Given the description of an element on the screen output the (x, y) to click on. 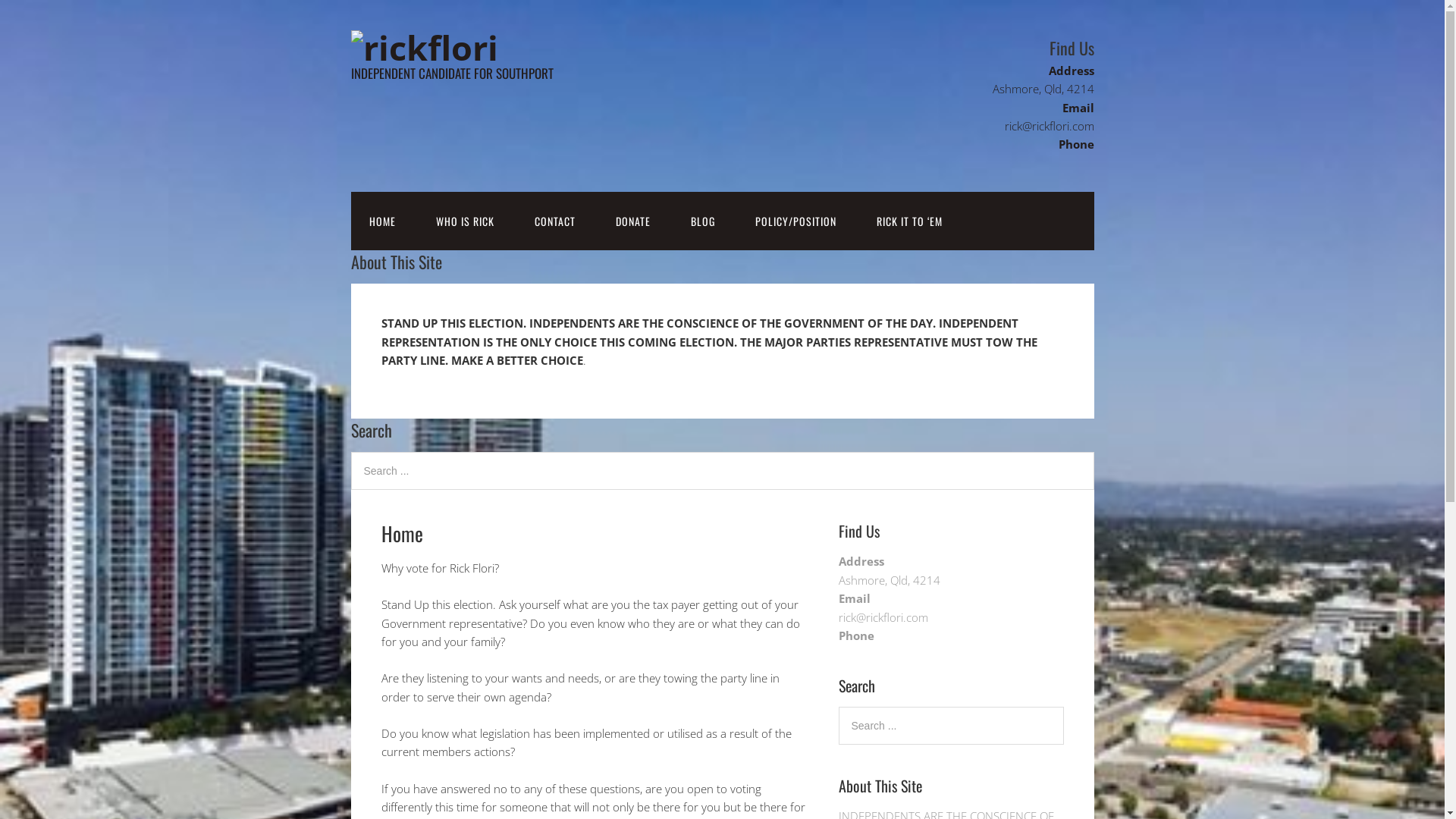
BLOG Element type: text (701, 220)
POLICY/POSITION Element type: text (795, 220)
Search for: Element type: hover (721, 470)
DONATE Element type: text (632, 220)
Search Element type: text (1093, 451)
HOME Element type: text (381, 220)
Search Element type: text (1063, 706)
rickflori Element type: hover (423, 47)
WHO IS RICK Element type: text (464, 220)
Search for: Element type: hover (950, 725)
CONTACT Element type: text (554, 220)
